Given the description of an element on the screen output the (x, y) to click on. 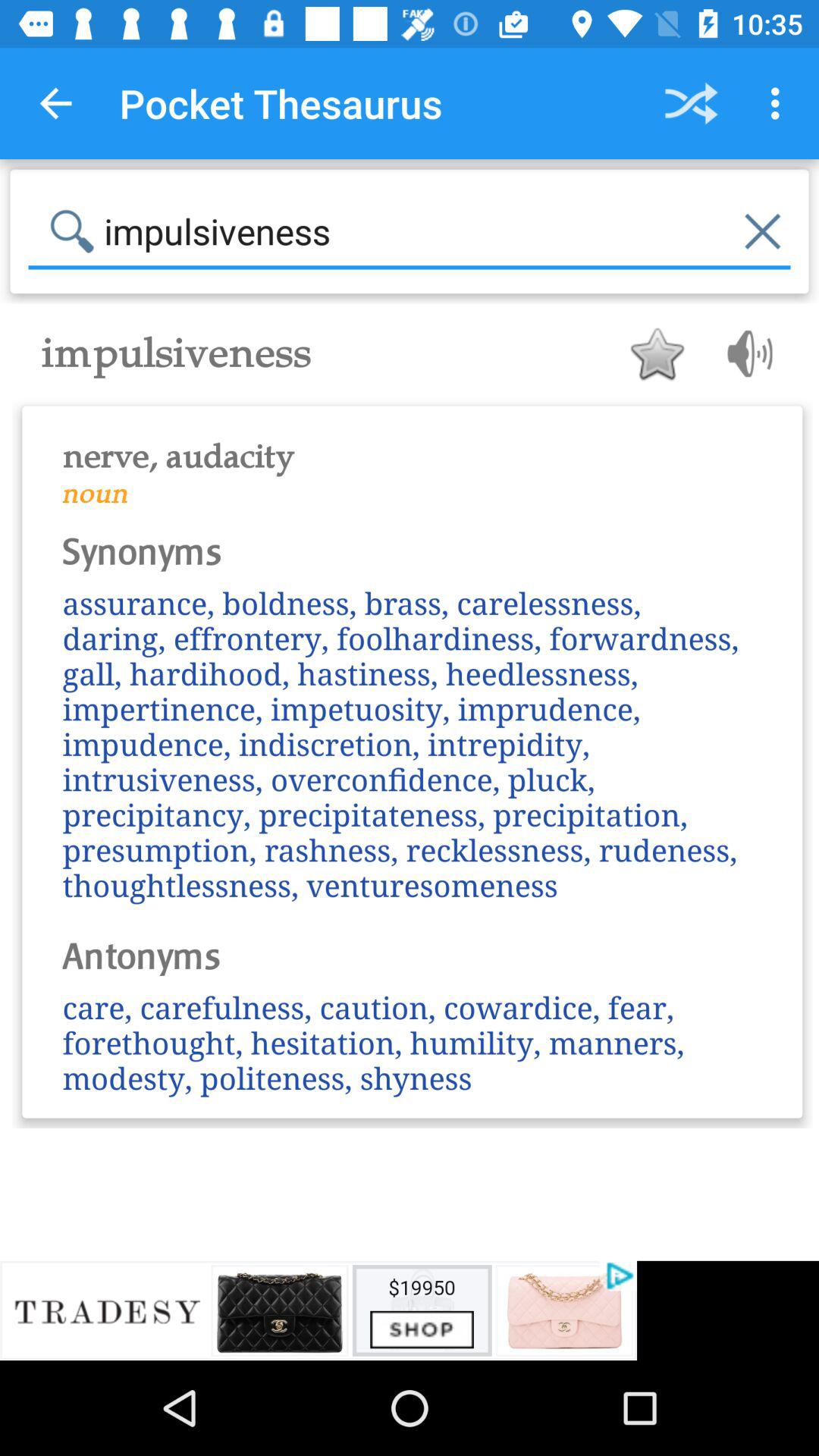
star (656, 353)
